Given the description of an element on the screen output the (x, y) to click on. 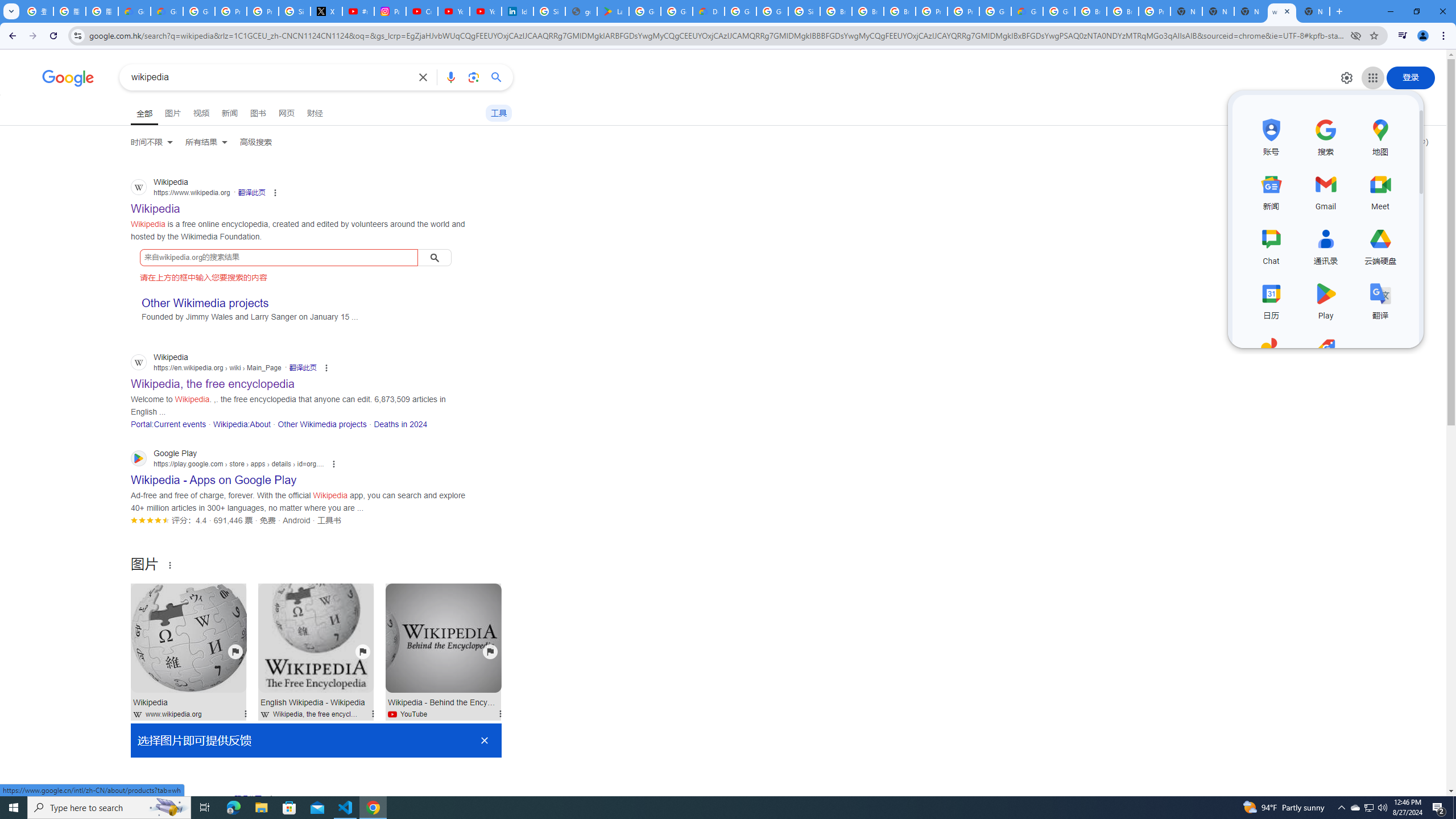
Google (68, 78)
Sign in - Google Accounts (804, 11)
Last Shelter: Survival - Apps on Google Play (613, 11)
Google Cloud Platform (995, 11)
#nbabasketballhighlights - YouTube (358, 11)
